Given the description of an element on the screen output the (x, y) to click on. 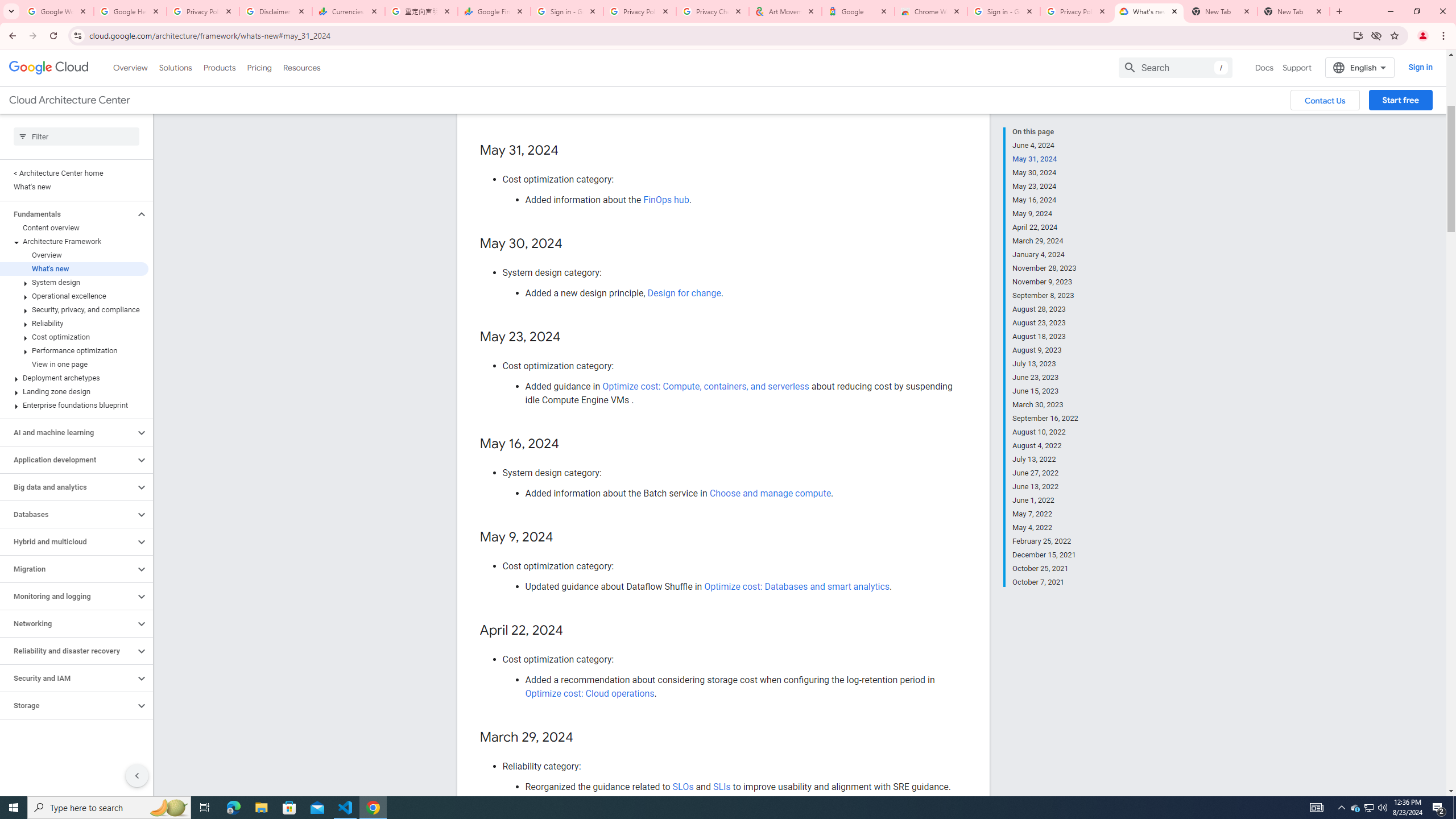
May 9, 2024 (1044, 213)
English (1359, 67)
November 28, 2023 (1044, 268)
May 4, 2022 (1044, 527)
October 25, 2021 (1044, 568)
Choose and manage compute (770, 493)
Landing zone design (74, 391)
Sign in - Google Accounts (1003, 11)
Fundamentals (67, 214)
Pricing (259, 67)
Networking (67, 623)
Optimize cost: Compute, containers, and serverless (705, 385)
FinOps hub (665, 199)
System design (74, 282)
